Given the description of an element on the screen output the (x, y) to click on. 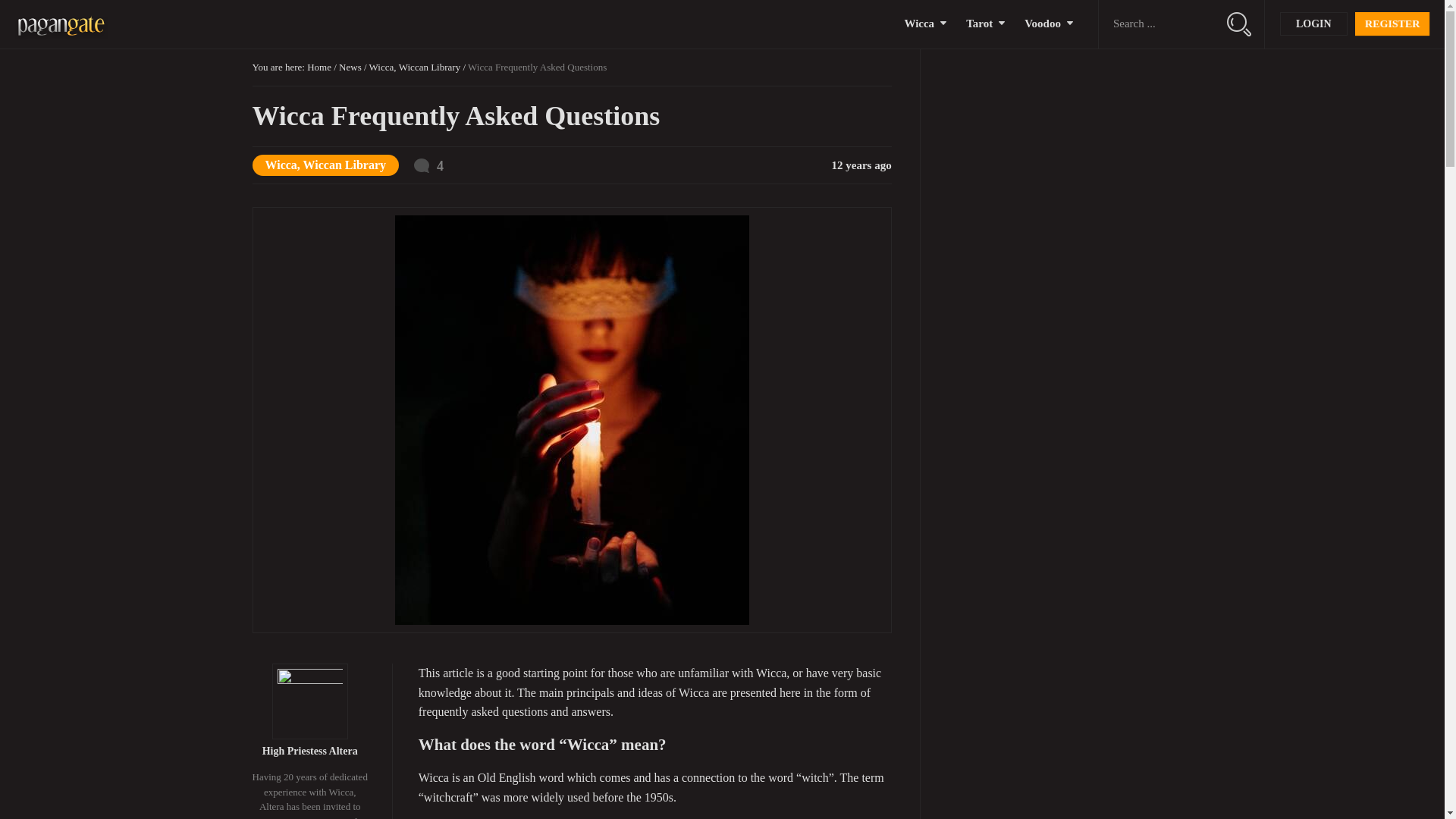
REGISTER (1392, 24)
Wicca (919, 23)
PaganGate (60, 24)
Tarot (979, 23)
LOGIN (1313, 24)
Voodoo (1043, 23)
